Given the description of an element on the screen output the (x, y) to click on. 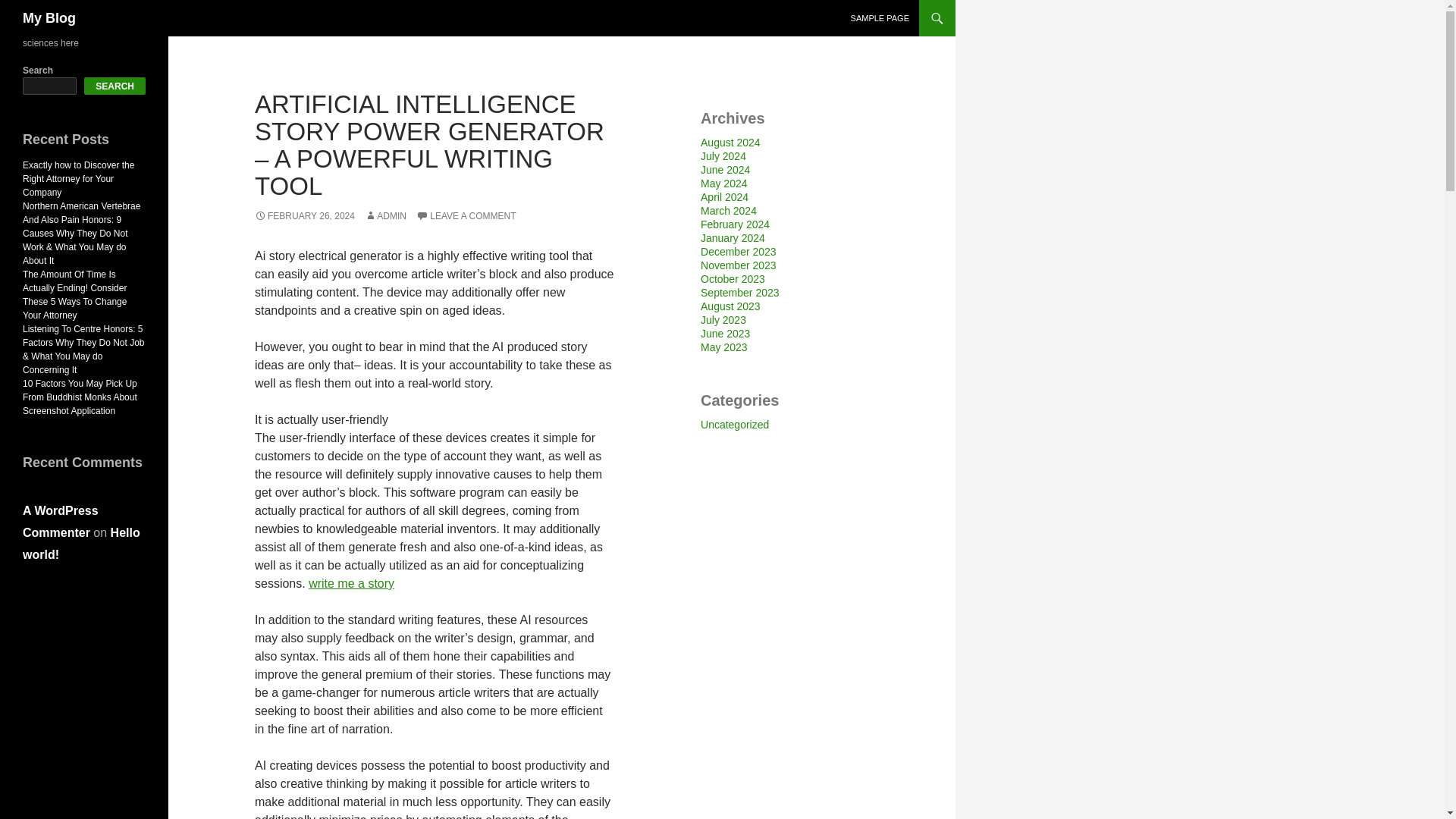
A WordPress Commenter (61, 521)
LEAVE A COMMENT (465, 215)
December 2023 (738, 251)
SEARCH (114, 85)
SAMPLE PAGE (879, 18)
July 2023 (722, 319)
FEBRUARY 26, 2024 (304, 215)
Exactly how to Discover the Right Attorney for Your Company (78, 178)
May 2023 (723, 346)
Hello world! (81, 543)
July 2024 (722, 155)
My Blog (49, 18)
June 2024 (724, 169)
February 2024 (735, 224)
